Given the description of an element on the screen output the (x, y) to click on. 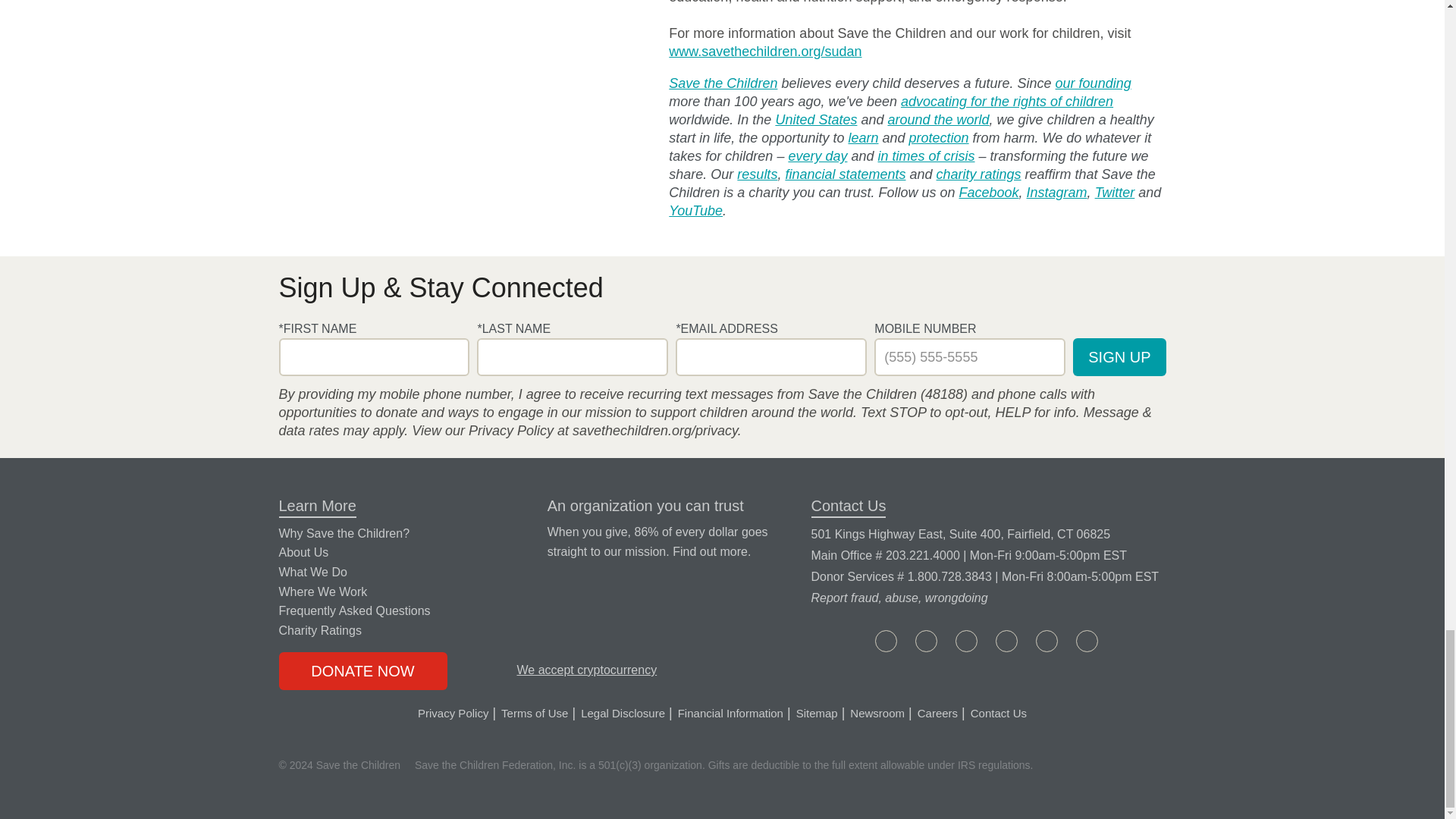
Education (862, 137)
Help Save Children in America (815, 119)
Protection (938, 137)
What We Do (817, 156)
Eglantyne Jebb (1093, 83)
Sign Up (1119, 356)
pie-chart (511, 528)
Financial Information (710, 551)
Advocate for Children (1007, 101)
Charity Ratings (979, 174)
Where We Work (937, 119)
Results For Children (756, 174)
Emergency Response and Humanitarian Crises (925, 156)
